Given the description of an element on the screen output the (x, y) to click on. 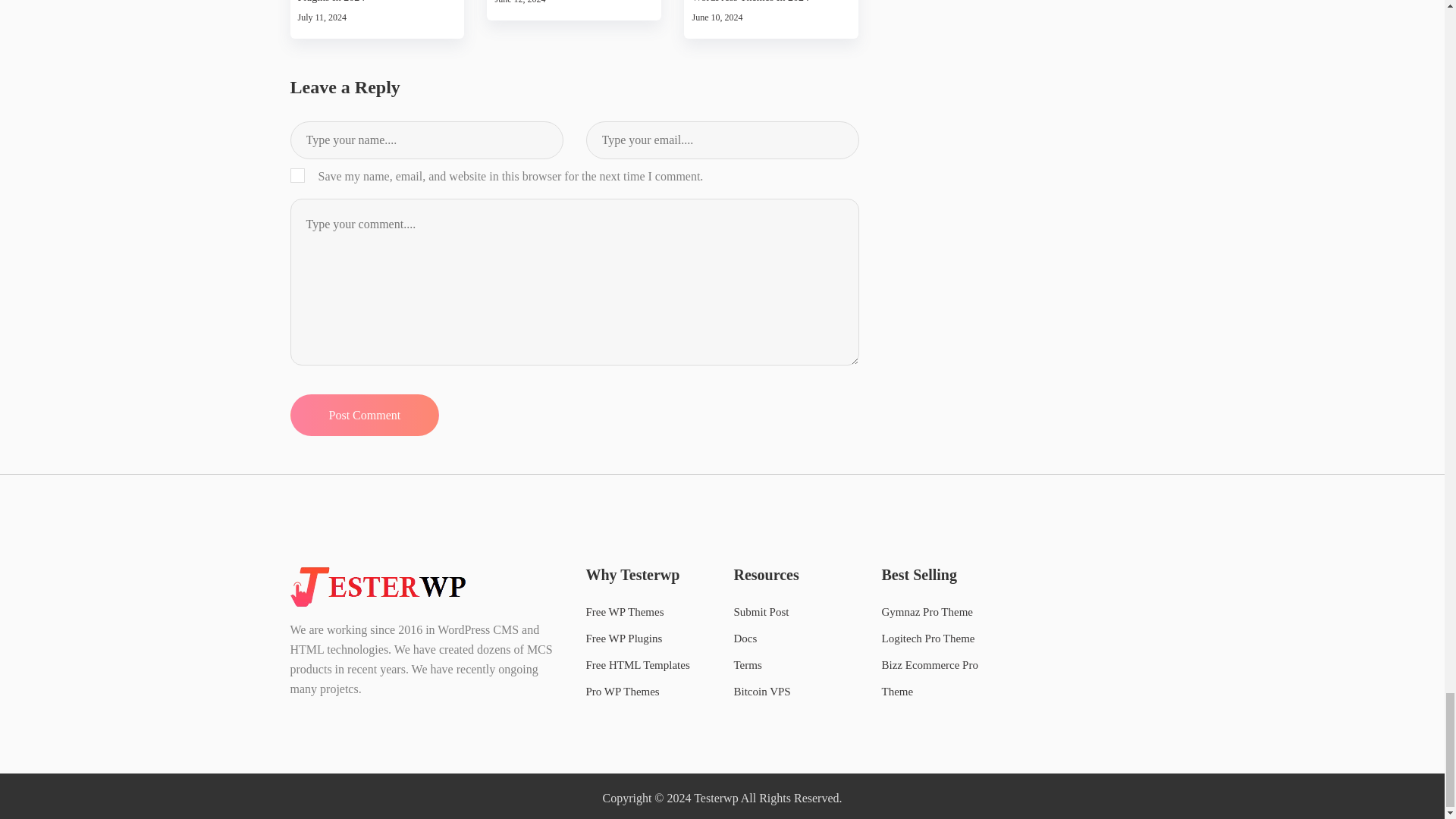
yes (296, 175)
